Given the description of an element on the screen output the (x, y) to click on. 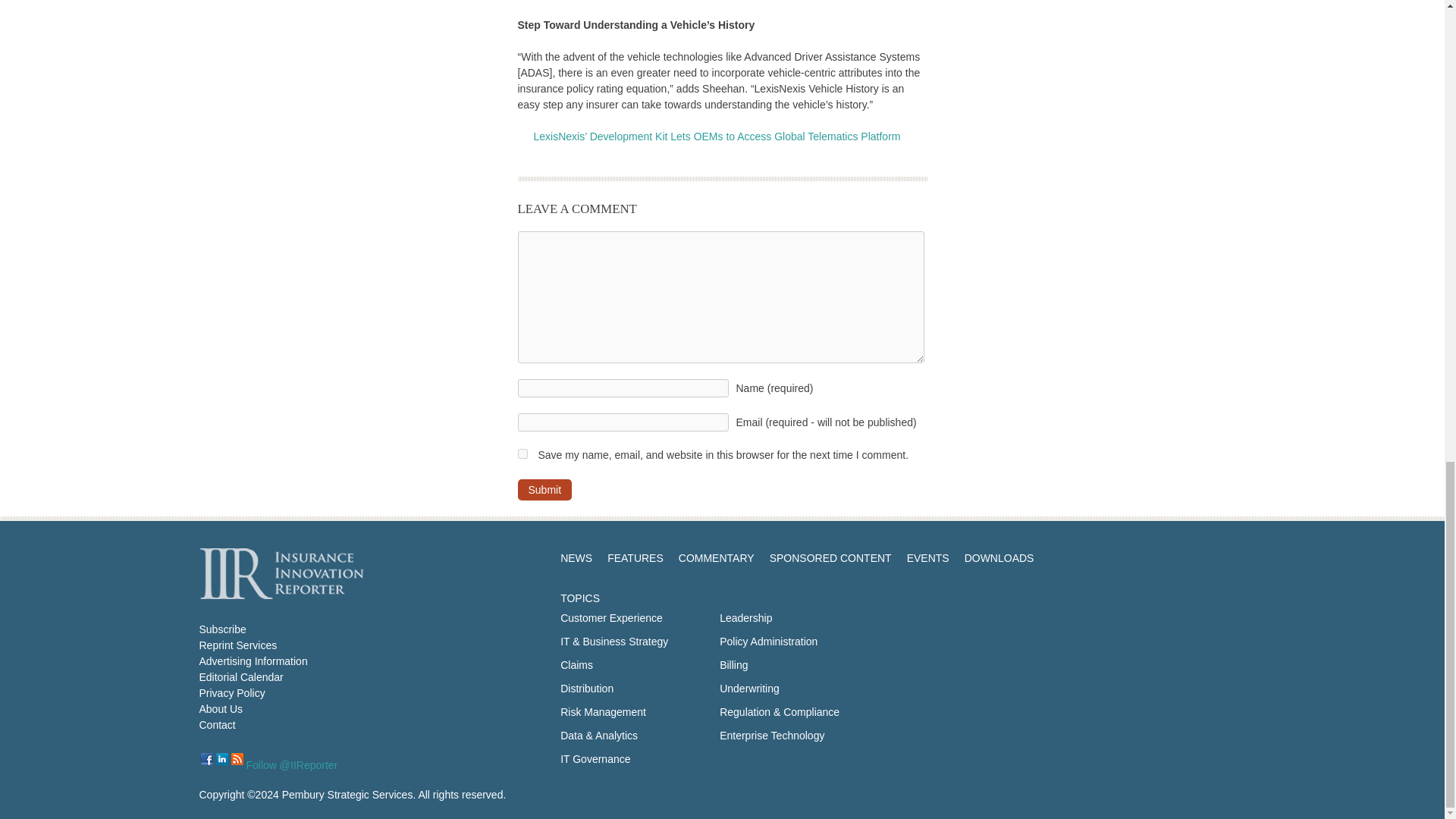
Privacy Policy (231, 693)
About Us (220, 708)
RSS Feed (236, 758)
Submit (544, 489)
yes (521, 453)
Friend me on Facebook (206, 758)
Editorial Calendar (240, 676)
Contact (216, 725)
Submit (544, 489)
Reprint Services (237, 645)
